Given the description of an element on the screen output the (x, y) to click on. 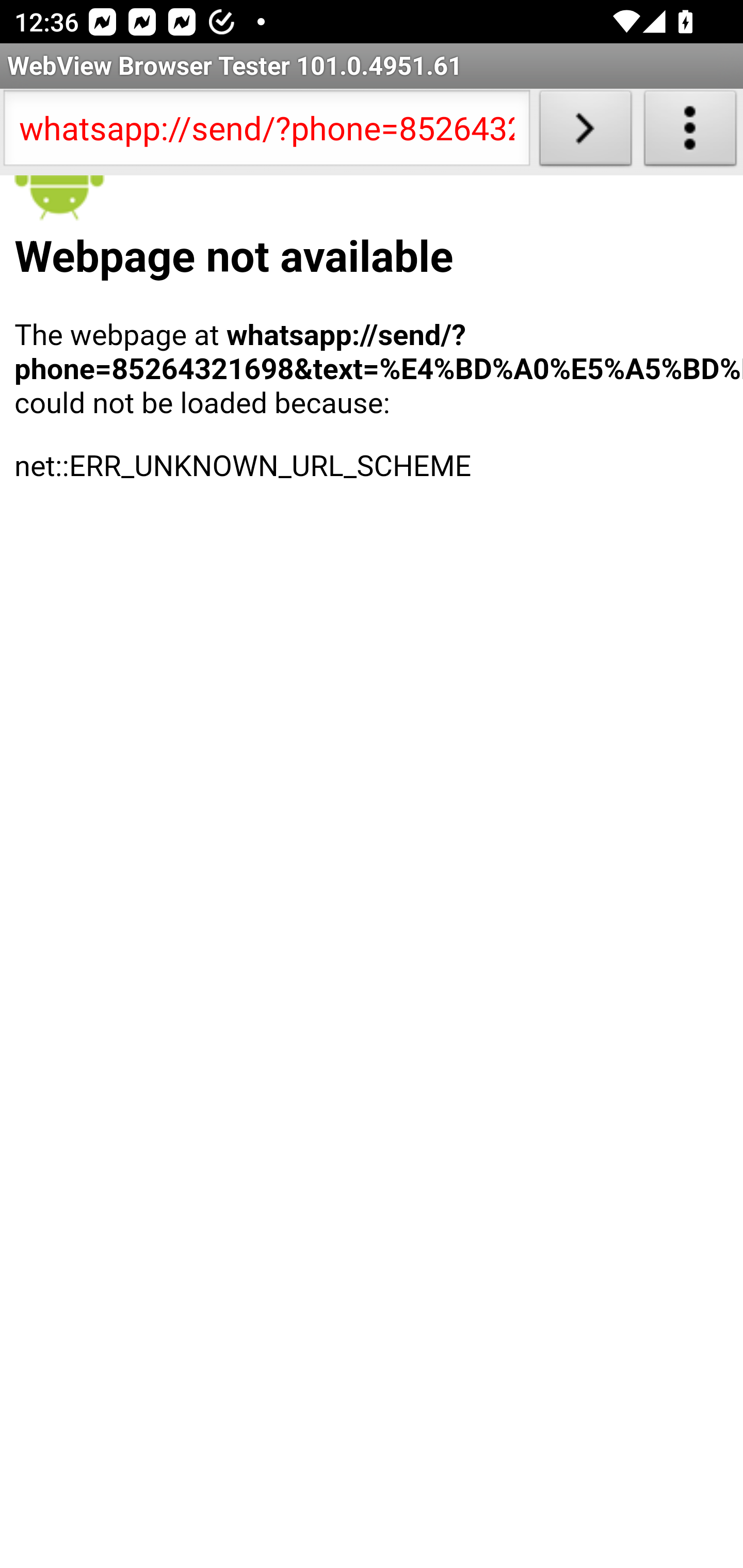
Load URL (585, 132)
About WebView (690, 132)
